Given the description of an element on the screen output the (x, y) to click on. 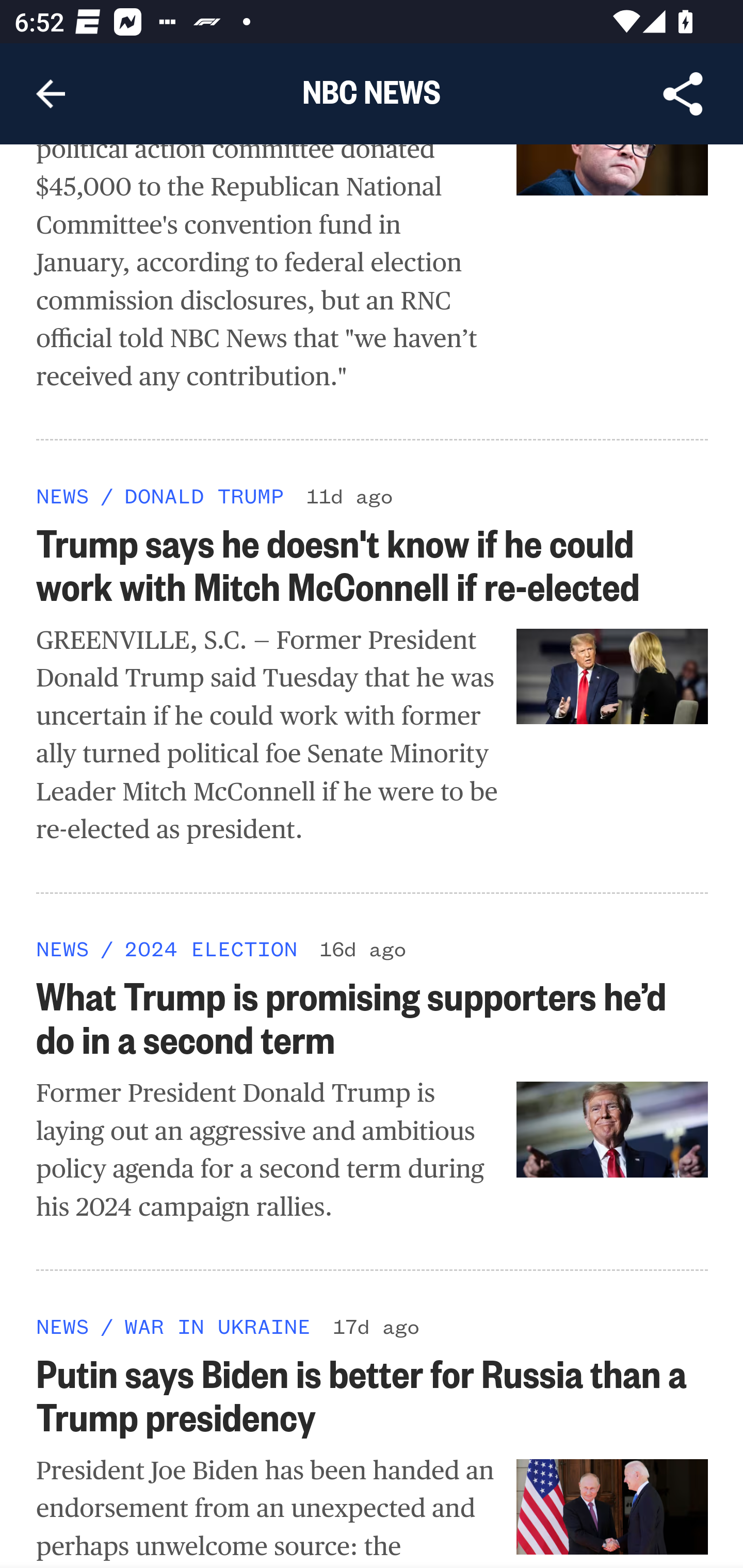
Navigate up (50, 93)
Share Article, button (683, 94)
NEWS NEWS NEWS (63, 496)
DONALD TRUMP DONALD TRUMP DONALD TRUMP (203, 496)
NEWS NEWS NEWS (63, 949)
2024 ELECTION 2024 ELECTION 2024 ELECTION (209, 949)
trump-campaign-promises-second-term-rcna138621 (612, 1131)
NEWS NEWS NEWS (63, 1326)
WAR IN UKRAINE WAR IN UKRAINE WAR IN UKRAINE (217, 1326)
